Given the description of an element on the screen output the (x, y) to click on. 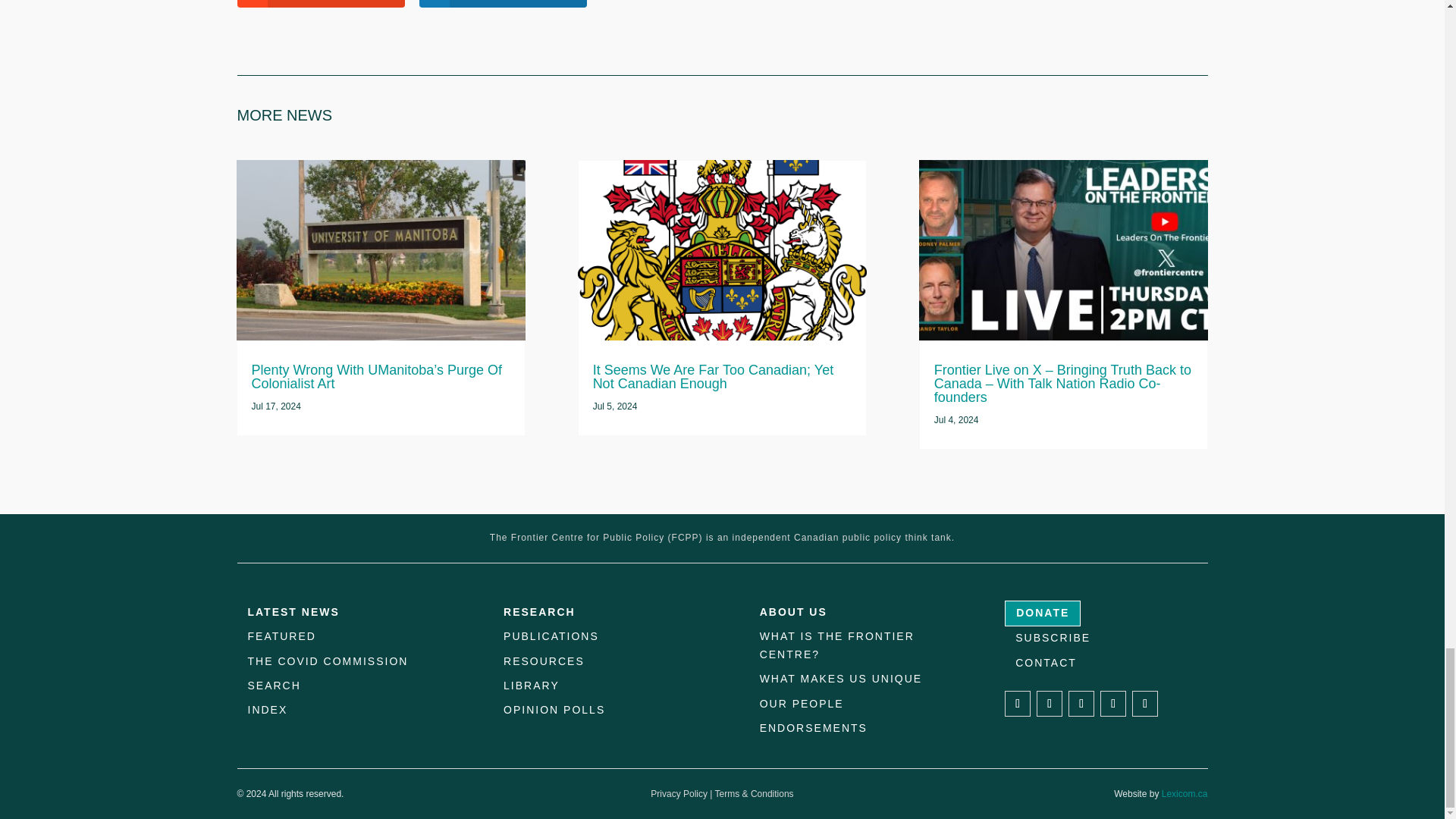
Follow on SoundCloud (1112, 703)
Follow on Facebook (1017, 703)
Follow on X (1049, 703)
Follow on LinkedIn (1081, 703)
Lexicom.ca (1184, 793)
Follow on Youtube (1144, 703)
